Given the description of an element on the screen output the (x, y) to click on. 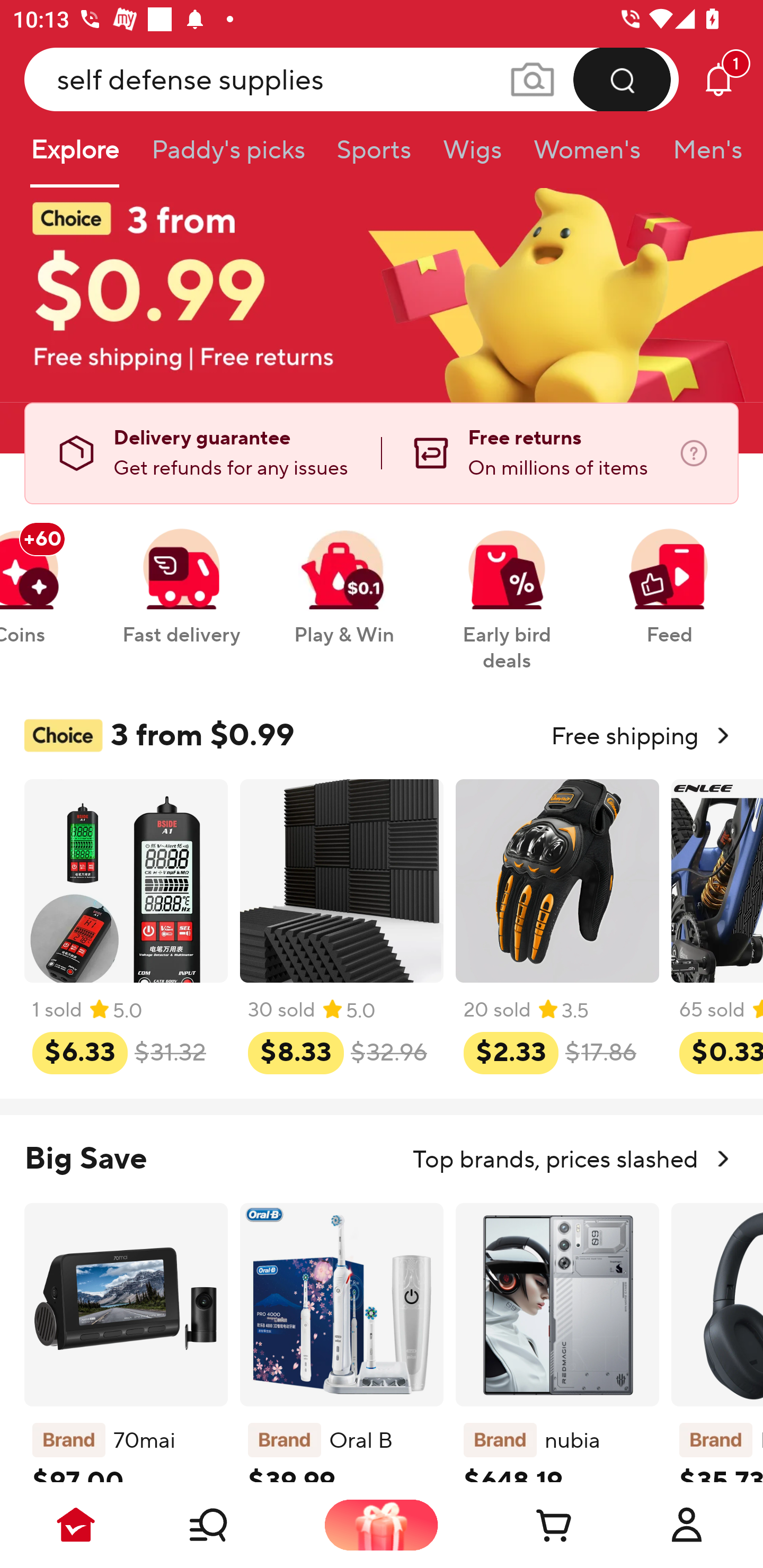
self defense supplies (351, 79)
Paddy's picks (227, 155)
Sports (373, 155)
Wigs (472, 155)
Women's (586, 155)
Men's (701, 155)
Coinsbutton +60 Coins (43, 576)
Fast deliverybutton Fast delivery (181, 576)
Play & Winbutton Play & Win (343, 576)
Early bird dealsbutton Early bird deals (506, 589)
Feedbutton Feed (669, 576)
Shop (228, 1524)
Cart (533, 1524)
Account (686, 1524)
